Given the description of an element on the screen output the (x, y) to click on. 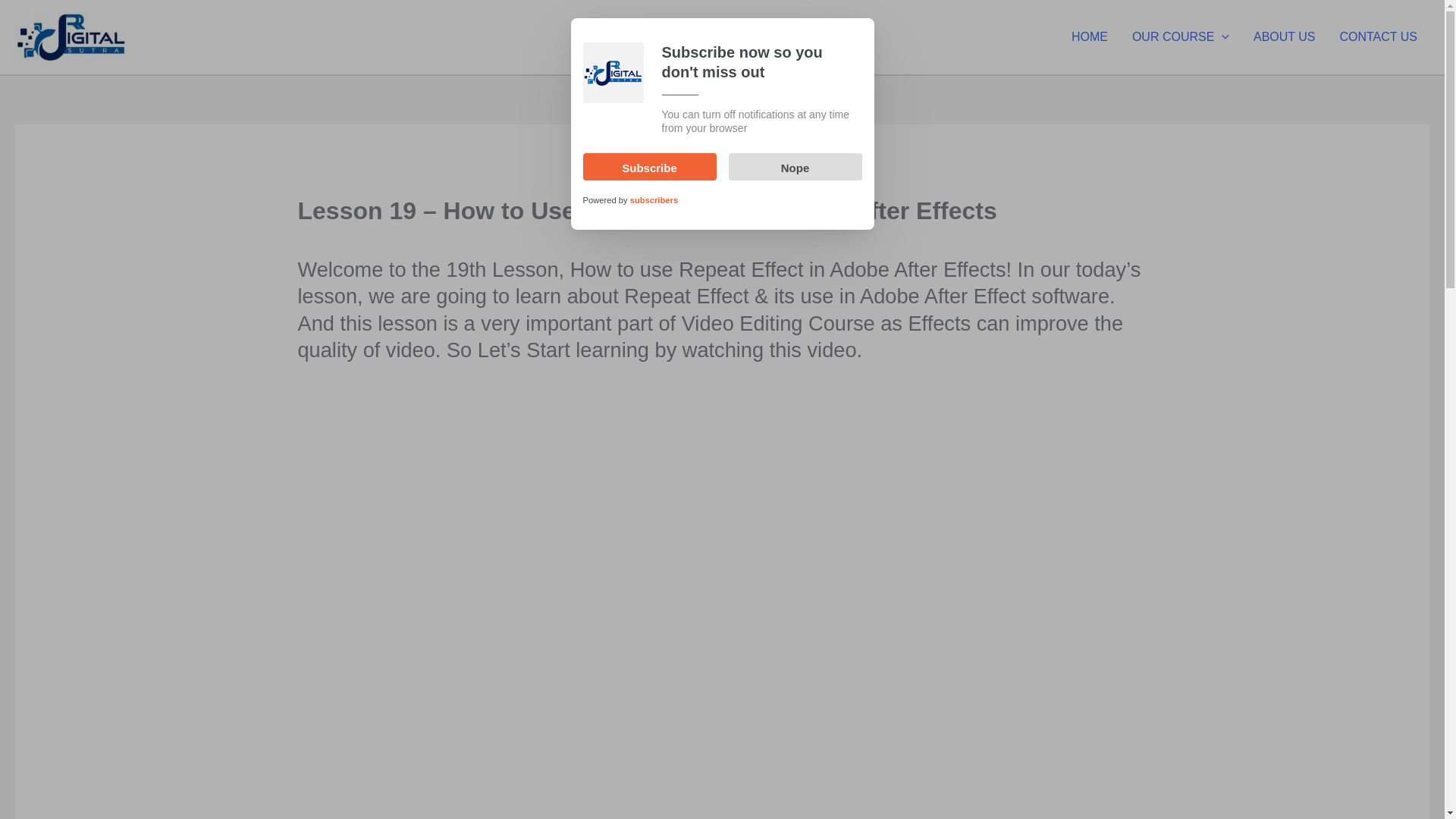
ABOUT US (1284, 36)
CONTACT US (1377, 36)
OUR COURSE (1180, 36)
HOME (1089, 36)
